Given the description of an element on the screen output the (x, y) to click on. 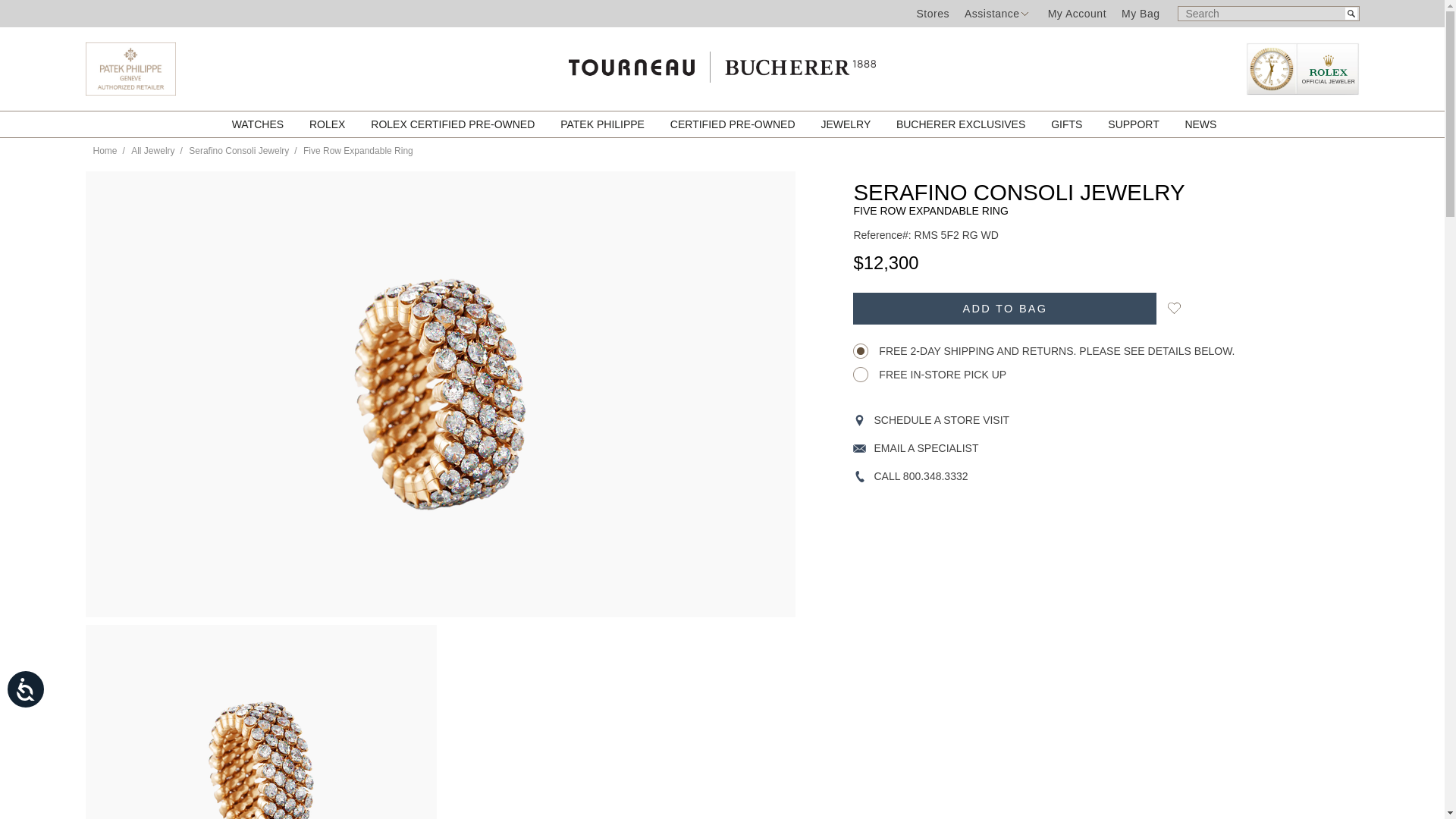
Call (1074, 476)
Assistance (991, 13)
Add to Wishlist (1173, 308)
go (1350, 13)
Add to Bag (1004, 308)
ACCESSIBILITY (39, 703)
View in Store (1074, 420)
Five Row Expandable Ring (261, 729)
My Account (1077, 13)
Rolex Official Retailer (1301, 68)
Email a Specialist (1074, 448)
WATCHES (259, 124)
Patek Philippe (129, 91)
Stores (932, 13)
Login (1077, 13)
